Given the description of an element on the screen output the (x, y) to click on. 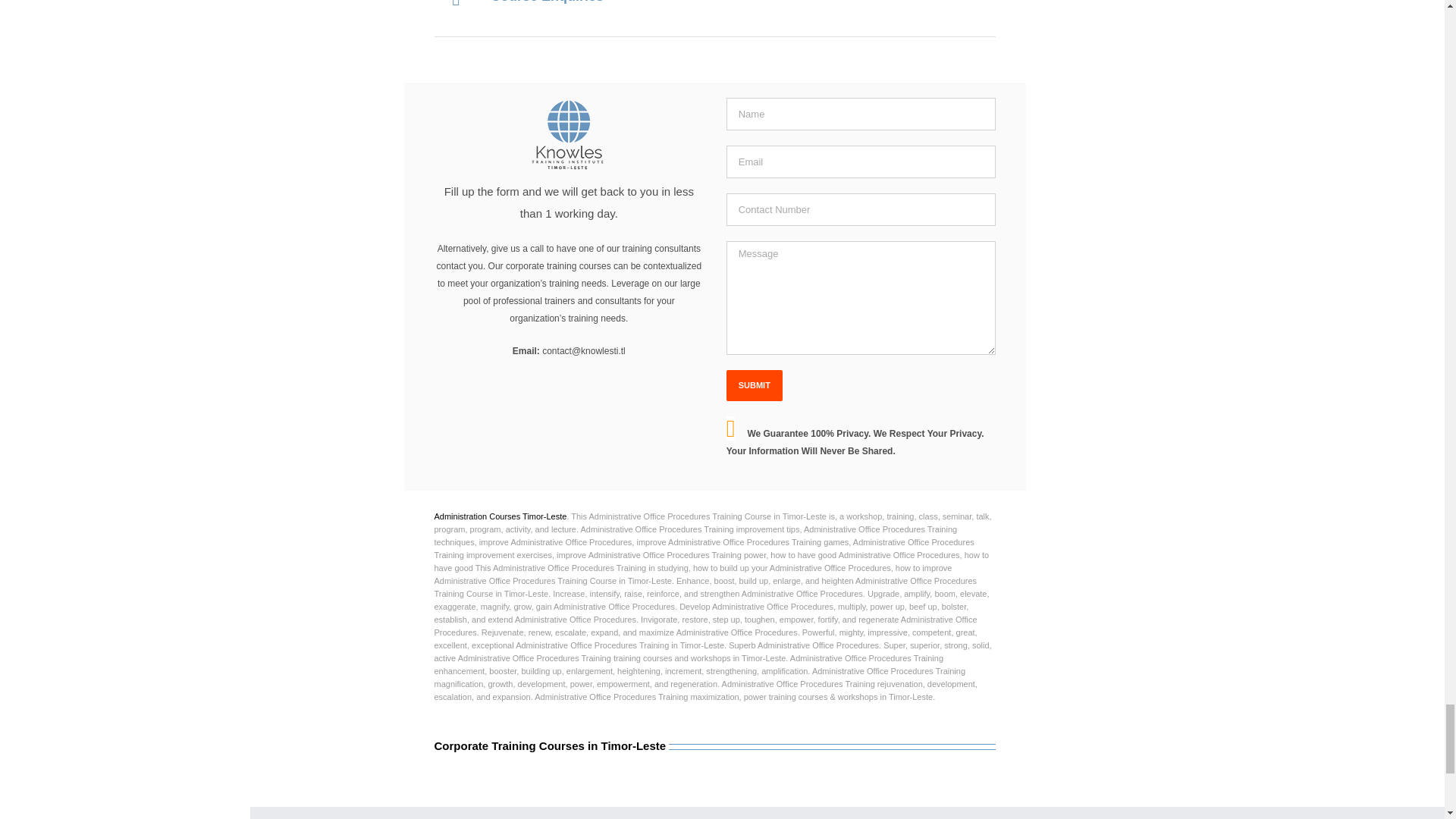
submit (754, 385)
Administration Courses Timor-Leste (499, 515)
Corporate Training Courses in Timor-Leste (549, 745)
submit (754, 385)
Corporate Training Courses in Timor-Leste (714, 764)
Course Enquiries (714, 37)
